Given the description of an element on the screen output the (x, y) to click on. 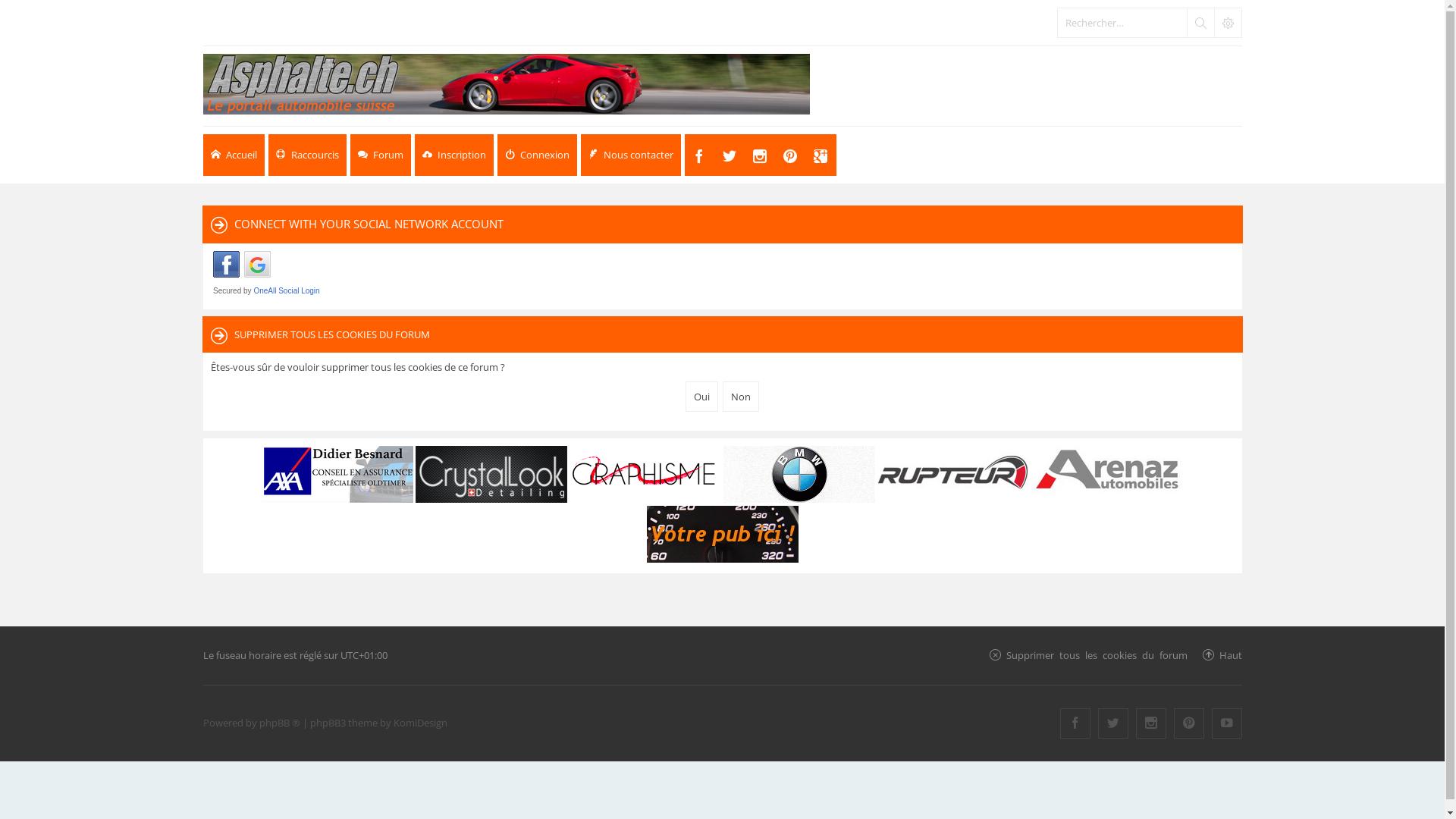
Forum Element type: text (380, 154)
Non Element type: text (740, 396)
KomiDesign Element type: text (419, 722)
Accueil Element type: text (233, 154)
Raccourcis Element type: text (307, 154)
Nous contacter Element type: text (630, 154)
Haut Element type: text (1230, 655)
Connexion Element type: text (537, 154)
Follow us on Pinterest Element type: hover (1188, 723)
Oui Element type: text (701, 396)
Login with Social Networks Element type: hover (722, 273)
Supprimer tous les cookies du forum Element type: text (1095, 655)
Follow us on Facebook Element type: hover (1075, 723)
Follow us on Instagram Element type: hover (1150, 723)
Rechercher Element type: hover (1199, 22)
Follow us on Twitter Element type: hover (1113, 723)
Inscription Element type: text (453, 154)
